Given the description of an element on the screen output the (x, y) to click on. 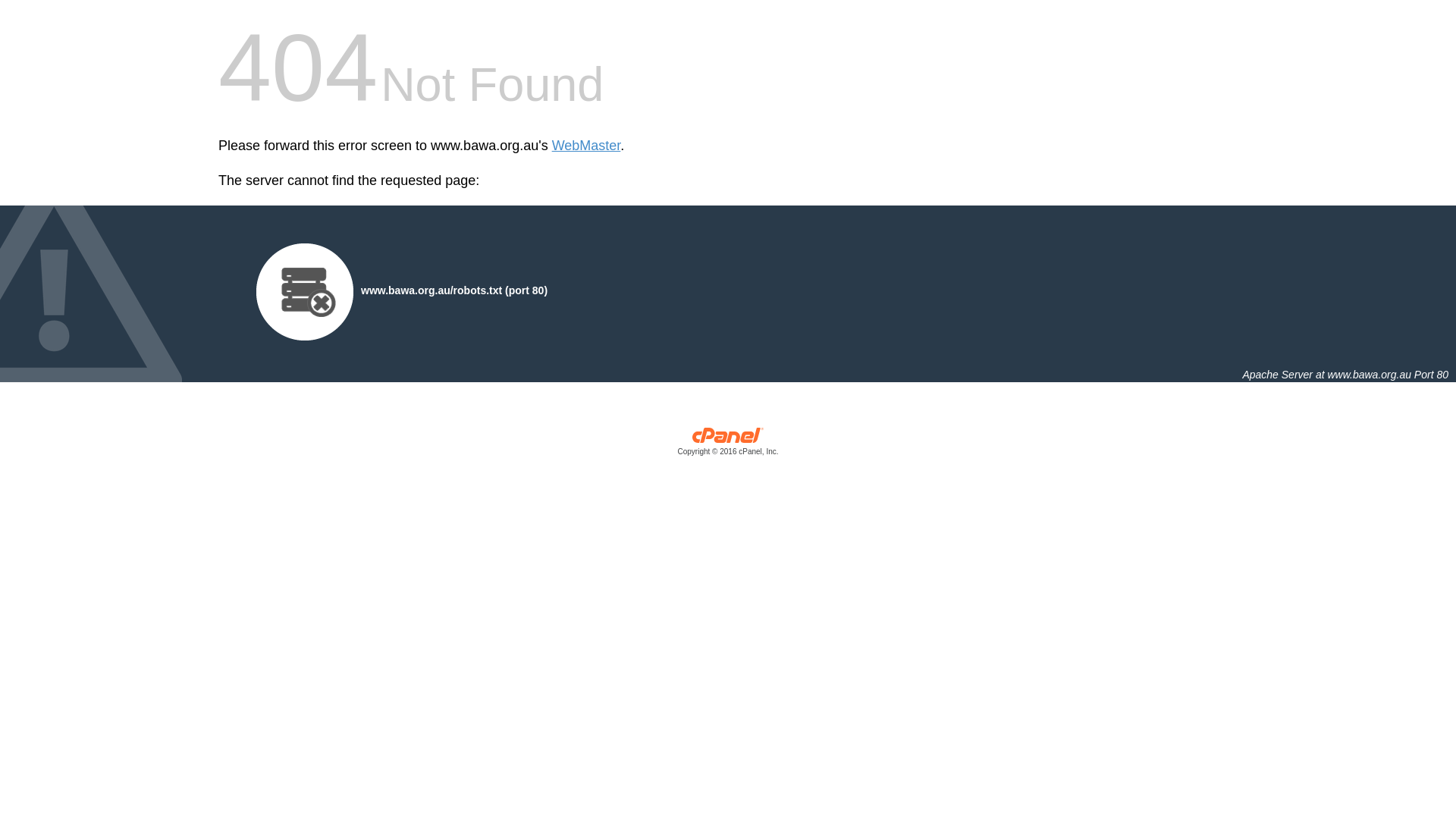
WebMaster Element type: text (586, 145)
